Given the description of an element on the screen output the (x, y) to click on. 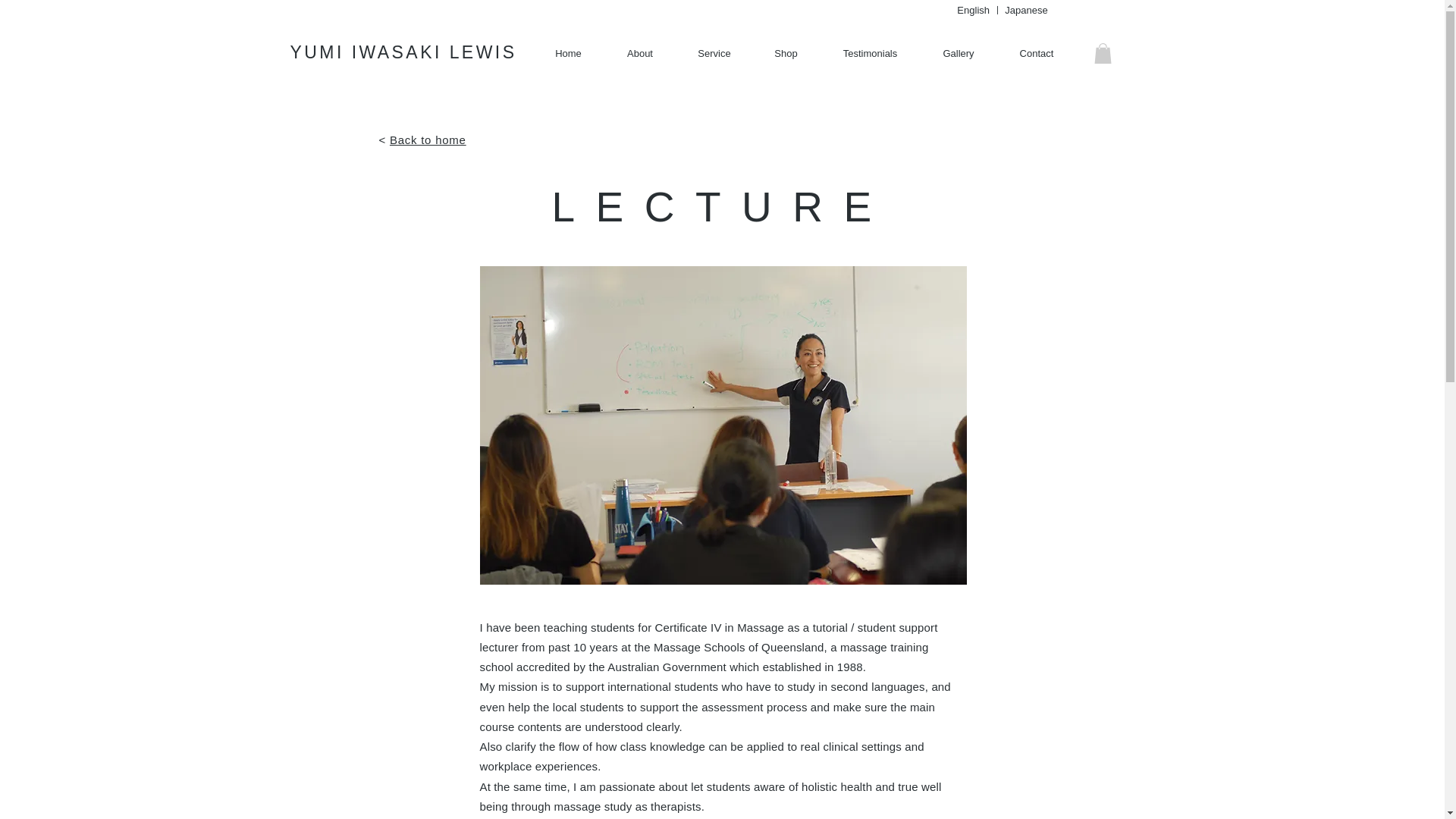
English (973, 9)
YUMI IWASAKI LEWIS (402, 52)
Shop (785, 53)
Testimonials (869, 53)
Contact (1036, 53)
Home (568, 53)
Back to home (427, 139)
About (639, 53)
Gallery (957, 53)
Japanese (1025, 9)
Service (714, 53)
